Given the description of an element on the screen output the (x, y) to click on. 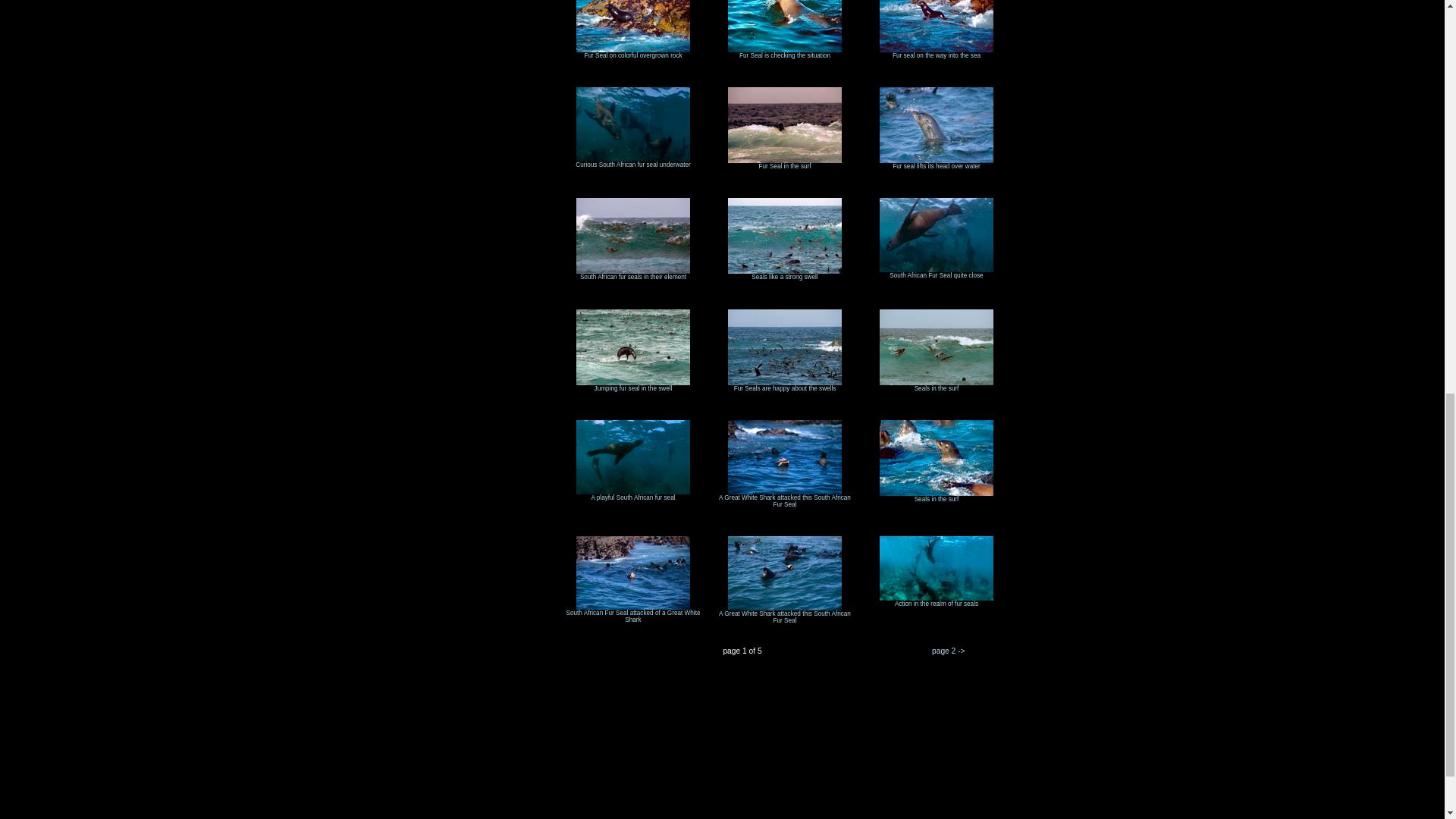
Advertisement (275, 785)
